Given the description of an element on the screen output the (x, y) to click on. 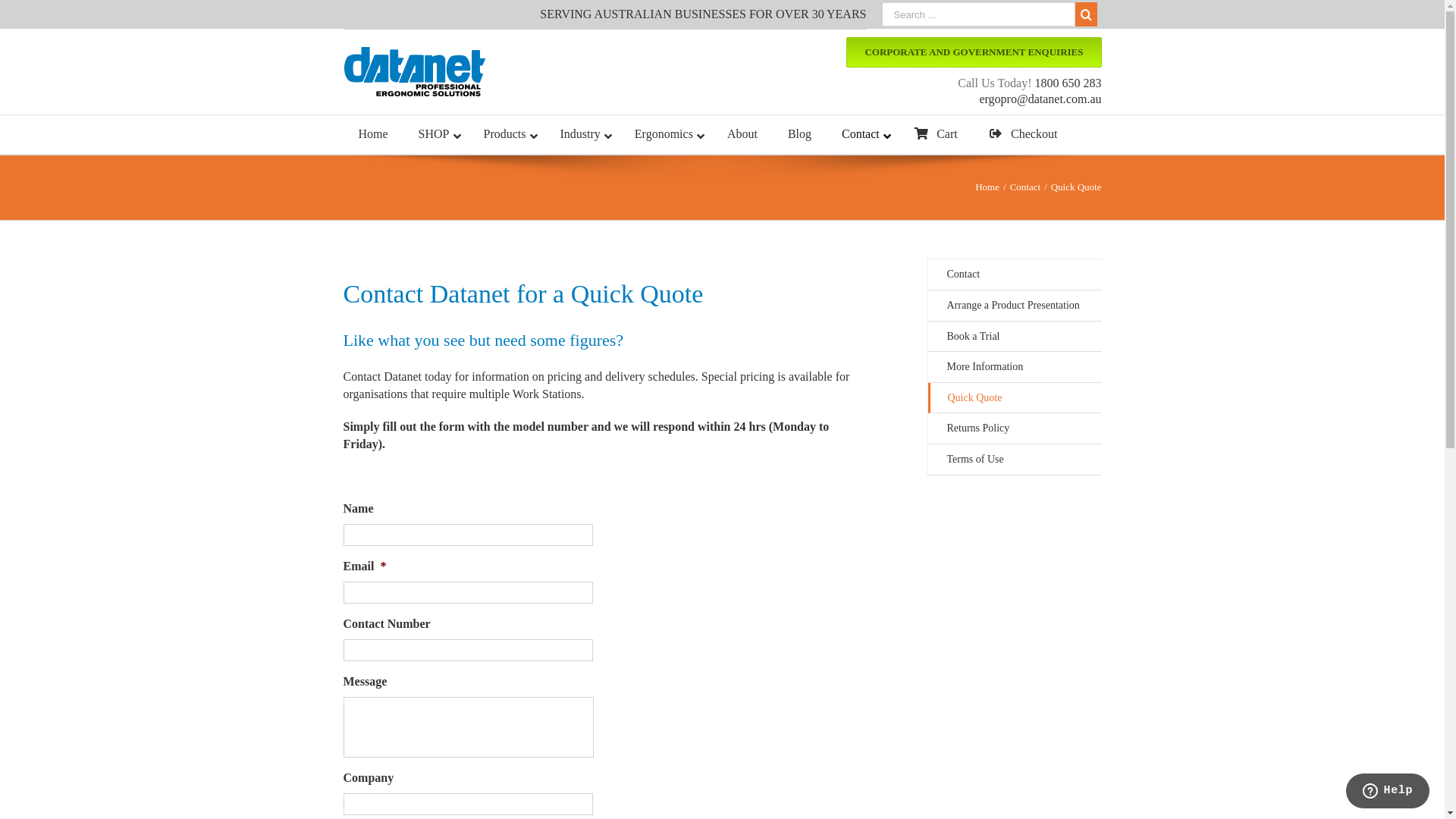
More Information Element type: text (1014, 366)
SHOP Element type: text (435, 134)
Blog Element type: text (799, 134)
CORPORATE AND GOVERNMENT ENQUIRIES Element type: text (973, 52)
Arrange a Product Presentation Element type: text (1014, 305)
Quick Quote Element type: text (1014, 398)
Products Element type: text (506, 134)
Contact Element type: text (1025, 186)
ergopro@datanet.com.au Element type: text (1040, 98)
Opens a widget where you can chat to one of our agents Element type: hover (1387, 792)
Contact Element type: text (862, 134)
Contact Element type: text (1014, 274)
1800 650 283 Element type: text (1067, 82)
Industry Element type: text (582, 134)
Checkout Element type: text (1022, 134)
Cart Element type: text (935, 134)
About Element type: text (742, 134)
Home Element type: text (372, 134)
Book a Trial Element type: text (1014, 336)
Home Element type: text (987, 186)
Terms of Use Element type: text (1014, 459)
Ergonomics Element type: text (665, 134)
Returns Policy Element type: text (1014, 428)
